Given the description of an element on the screen output the (x, y) to click on. 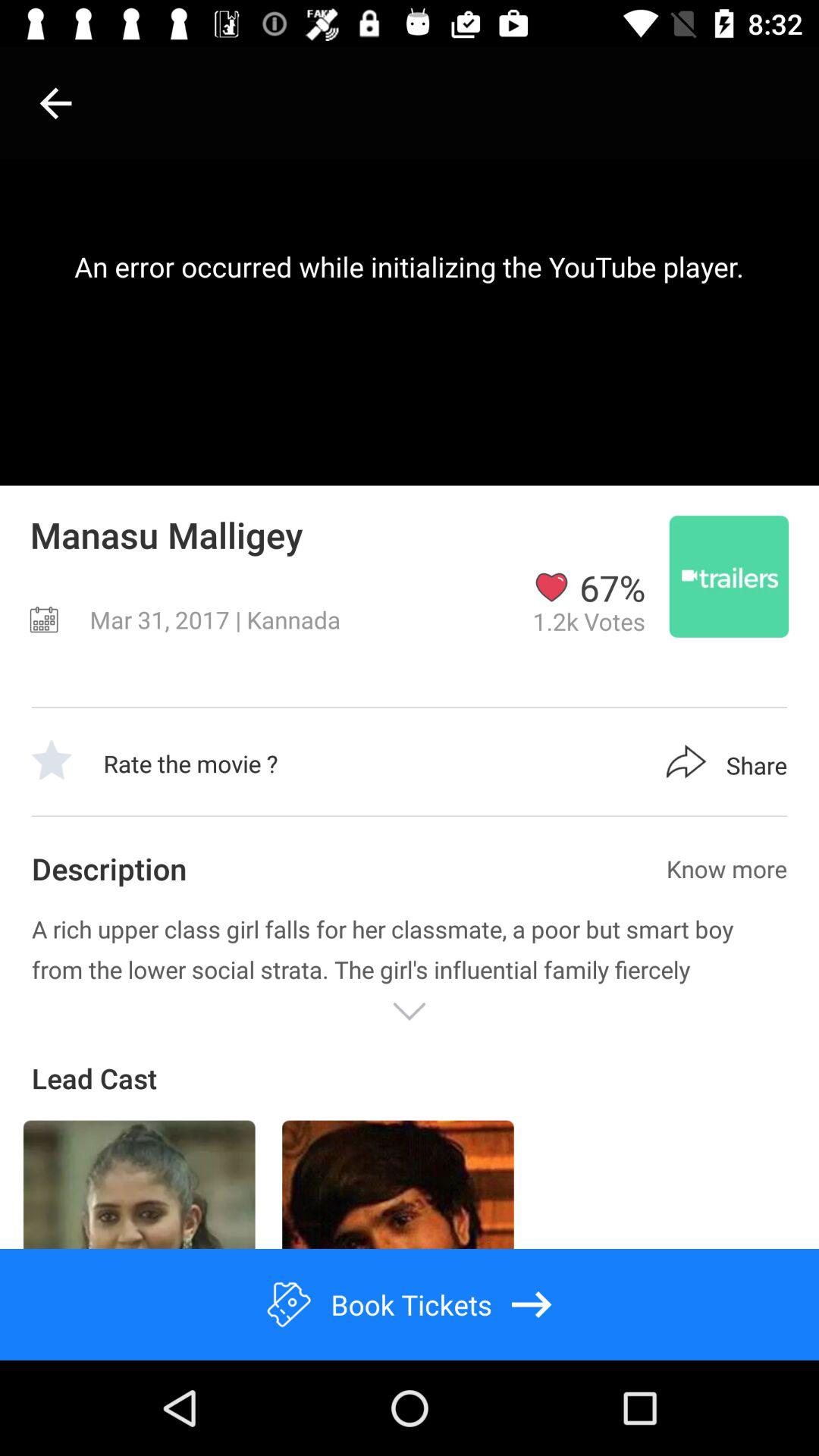
watch trailers (728, 576)
